Given the description of an element on the screen output the (x, y) to click on. 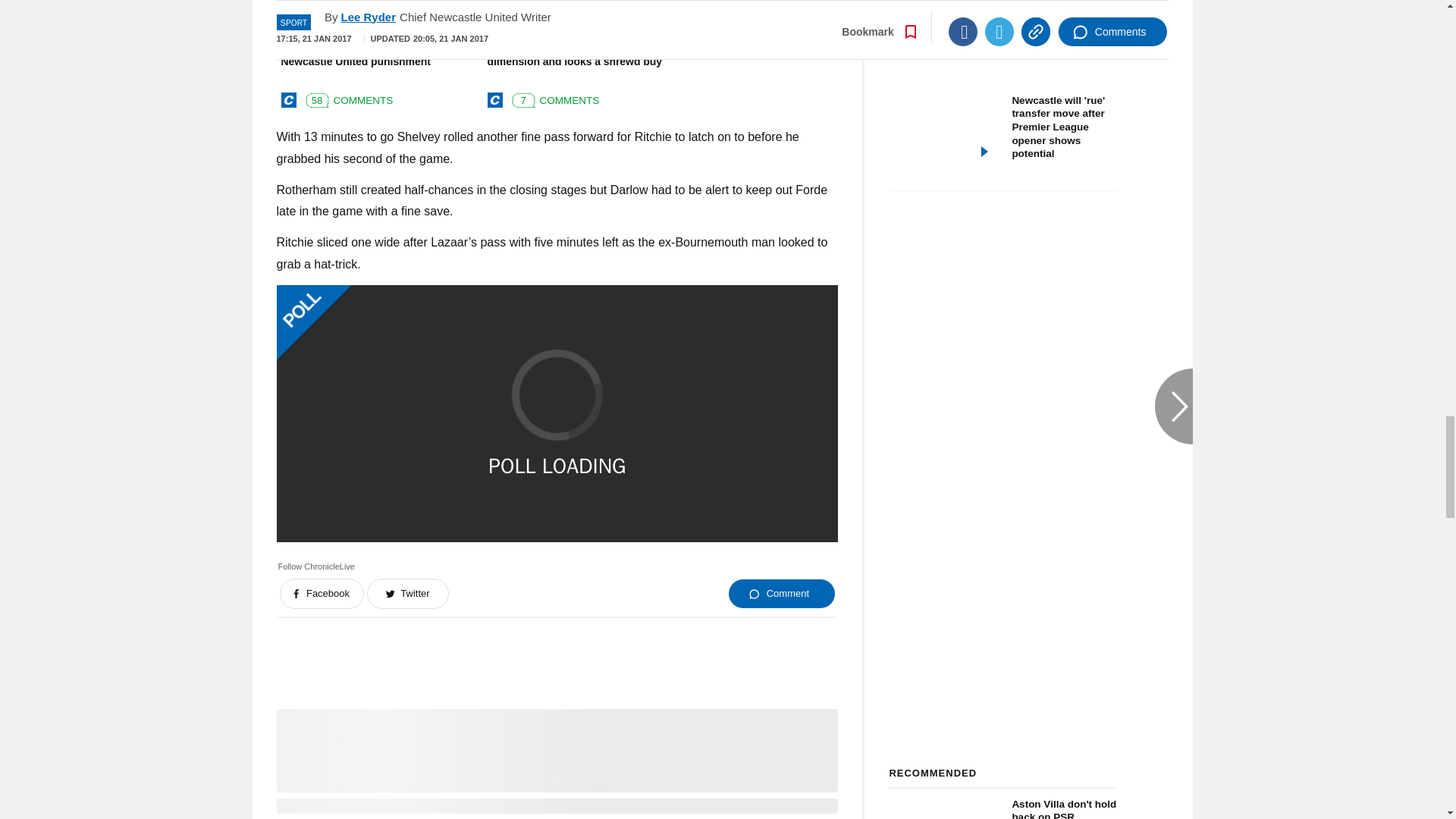
Comments (345, 97)
Comments (758, 97)
Comments (552, 97)
